Given the description of an element on the screen output the (x, y) to click on. 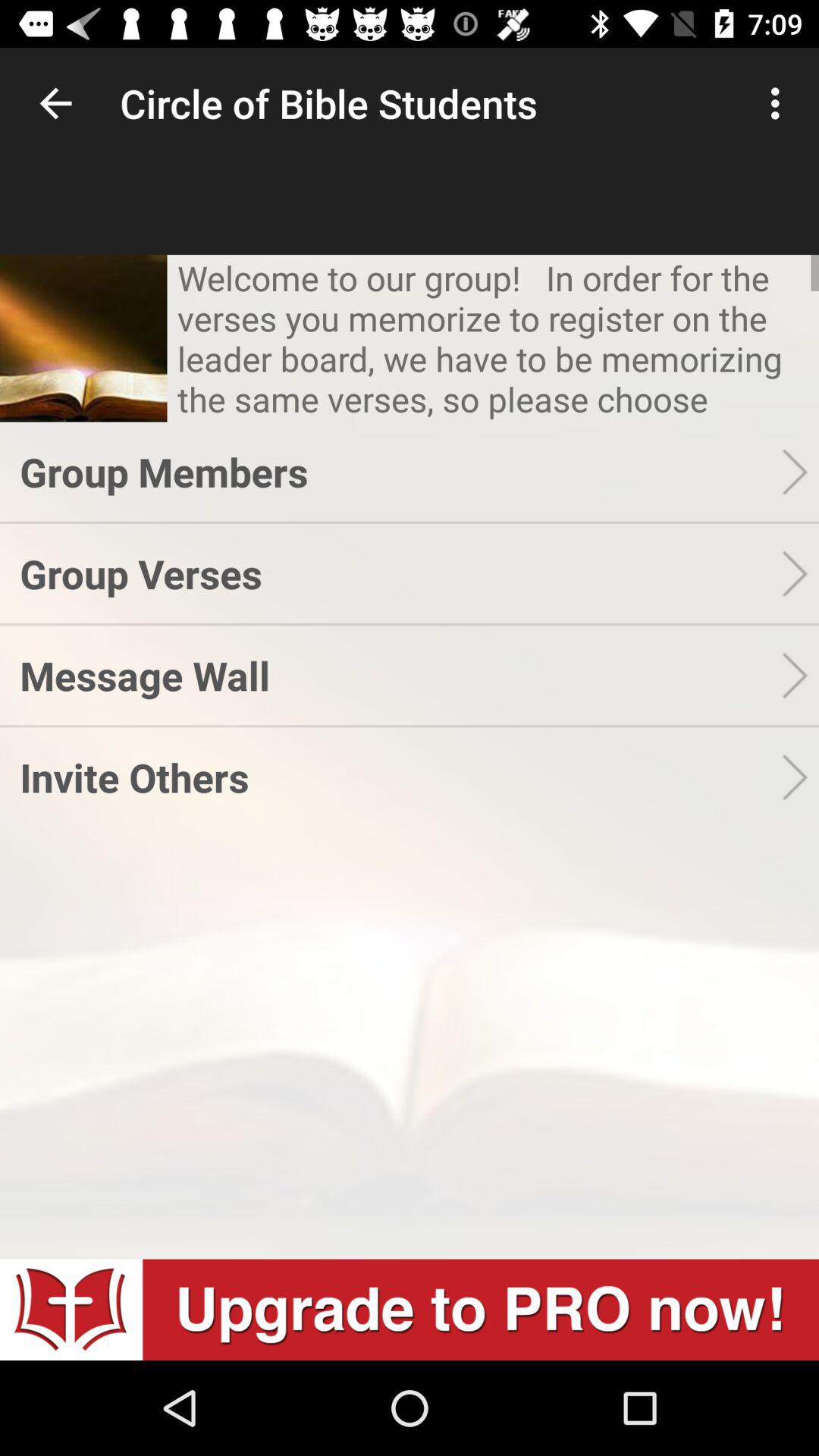
choose the item above the group verses item (399, 471)
